Given the description of an element on the screen output the (x, y) to click on. 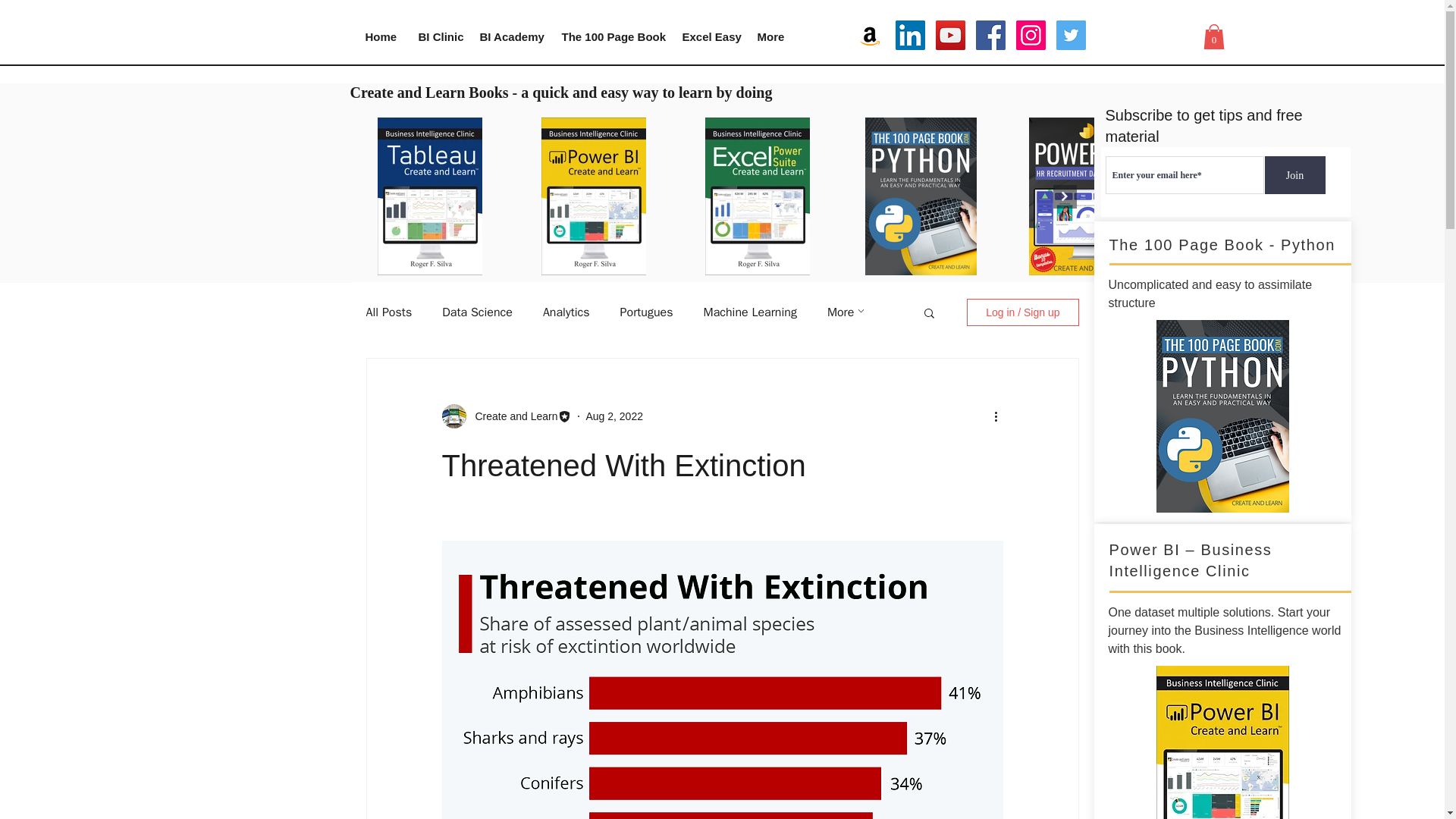
The 100 Page Book (610, 37)
Excel Easy (707, 37)
All Posts (388, 312)
Embedded Content (1165, 41)
Create and Learn (511, 416)
Analytics (566, 312)
BI Academy (509, 37)
BI Clinic (436, 37)
Home (379, 37)
Aug 2, 2022 (614, 416)
Machine Learning (749, 312)
Data Science (477, 312)
Portugues (646, 312)
